Given the description of an element on the screen output the (x, y) to click on. 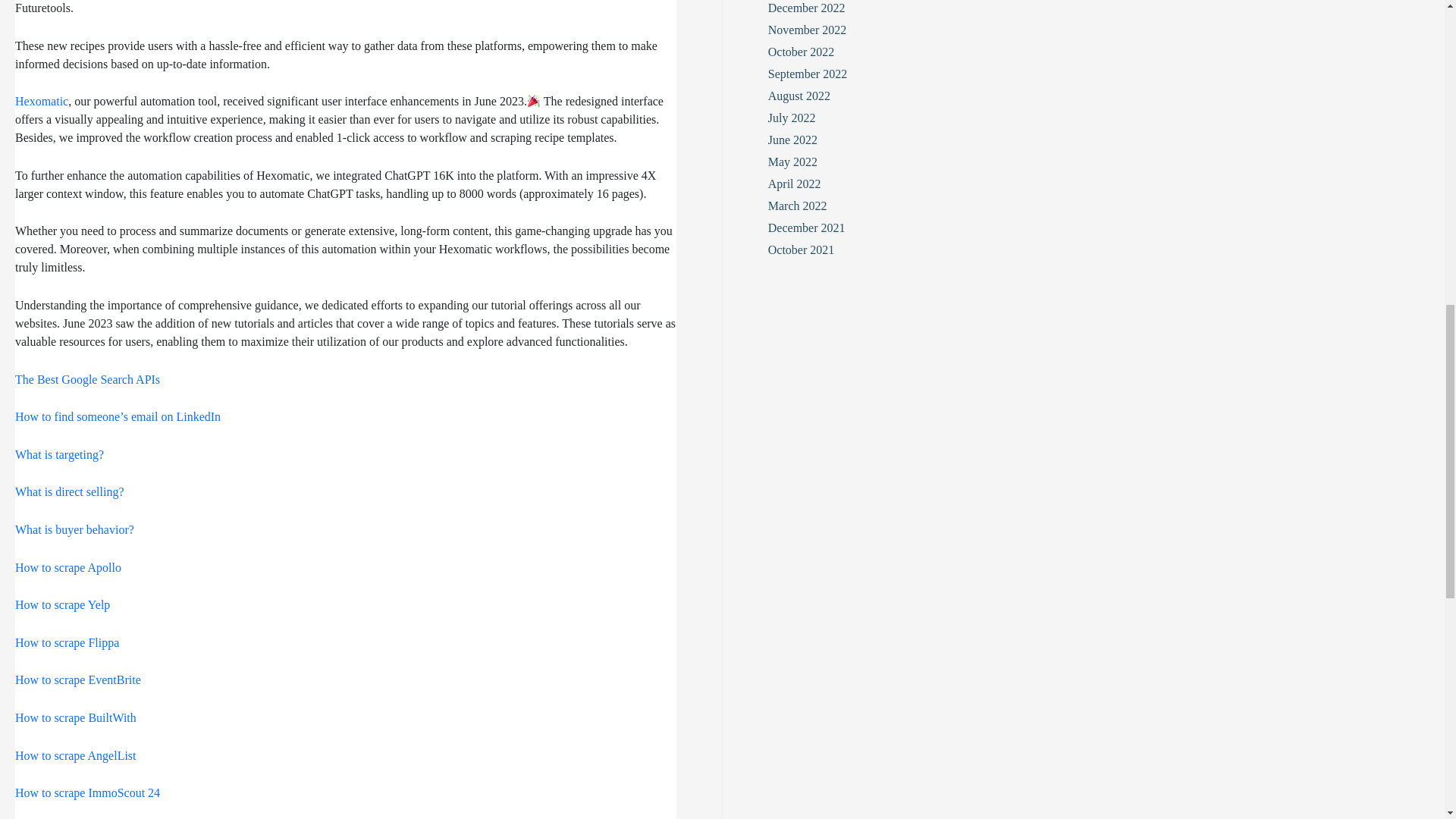
How to scrape EventBrite (77, 679)
What is targeting? (58, 454)
Hexom (32, 101)
How to scrape Apollo (67, 567)
How to scrape Flippa (66, 642)
How to scrape AngelList (75, 755)
What is buyer behavior? (73, 529)
What is direct selling? (68, 491)
How to scrape BuiltWith (75, 717)
tic (62, 101)
How to scrape ImmoScout 24 (87, 792)
How to scrape Yelp (62, 604)
The Best Google Search APIs (87, 379)
